Given the description of an element on the screen output the (x, y) to click on. 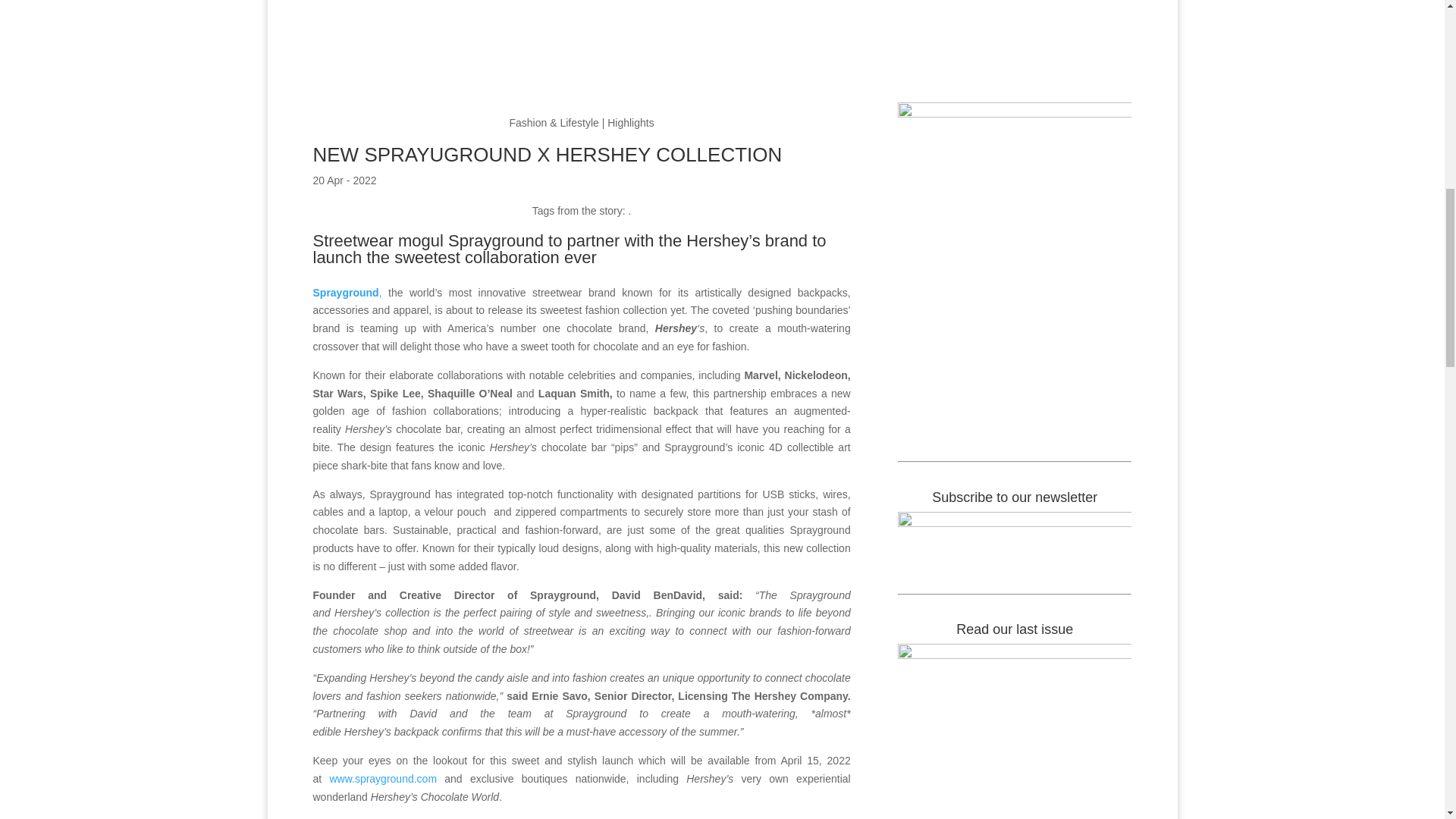
Subscribe to our newsletter (1014, 538)
Sprayground-x-Hershey (581, 51)
www.sprayground.com (382, 778)
Sprayground, (347, 292)
Read our last issue (1014, 731)
